Given the description of an element on the screen output the (x, y) to click on. 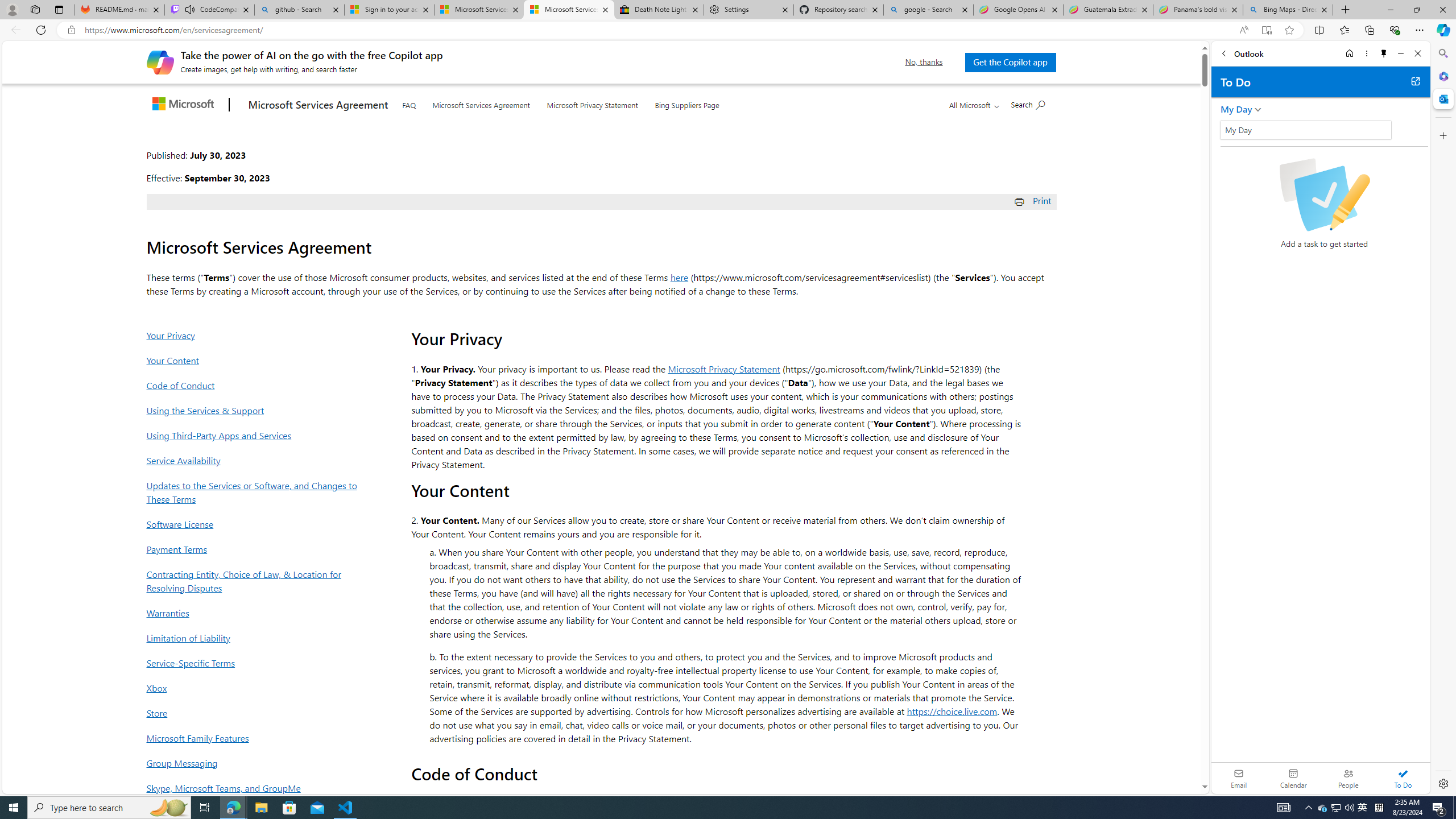
Add a task (1228, 133)
Group Messaging (254, 762)
Google Opens AI Academy for Startups - Nearshore Americas (1018, 9)
My Day (1236, 109)
Create images, get help with writing, and search faster (159, 62)
github - Search (298, 9)
Code of Conduct (254, 385)
Print (1034, 200)
Using Third-Party Apps and Services (254, 435)
